Given the description of an element on the screen output the (x, y) to click on. 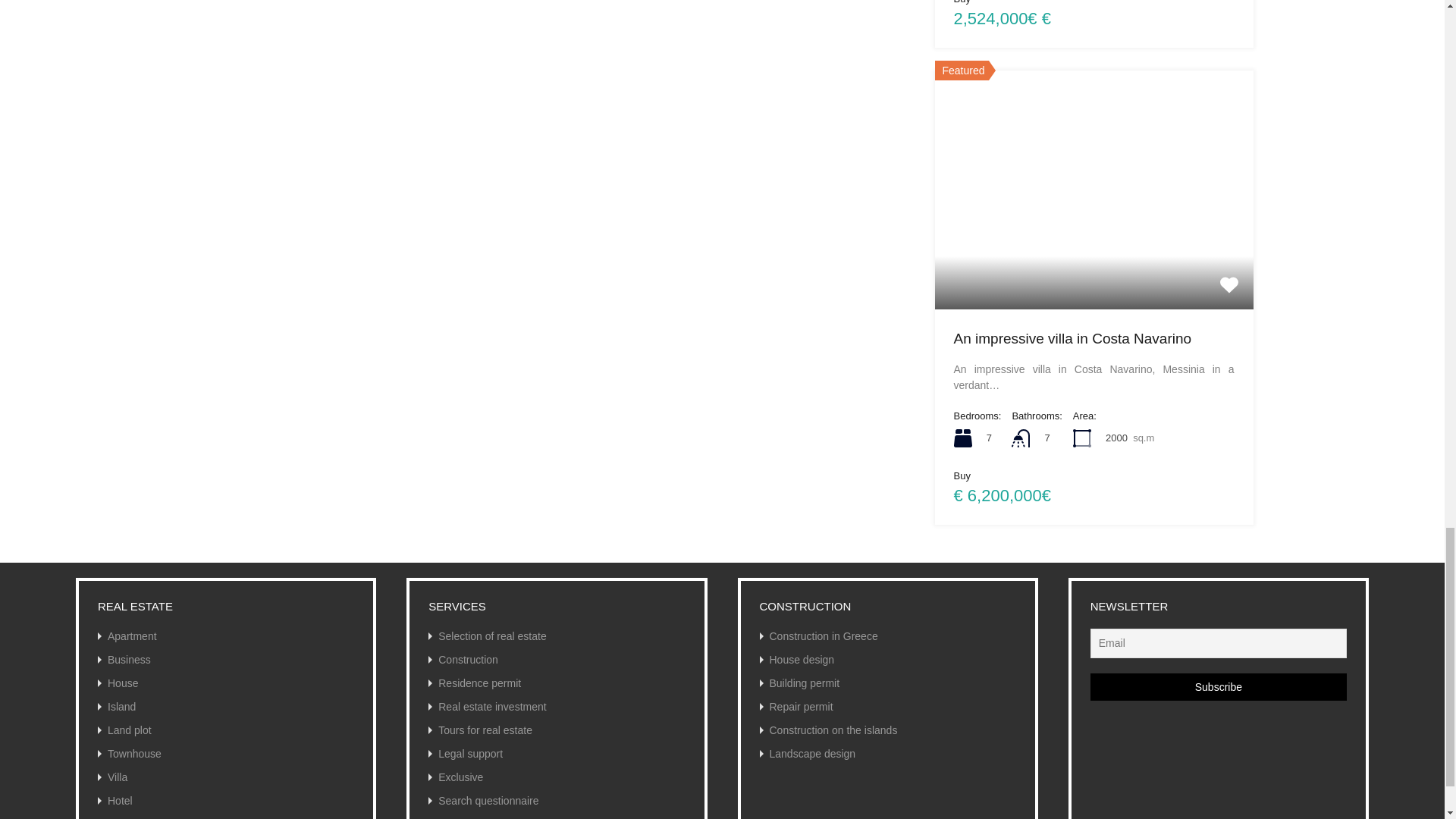
Subscribe (1218, 687)
